Given the description of an element on the screen output the (x, y) to click on. 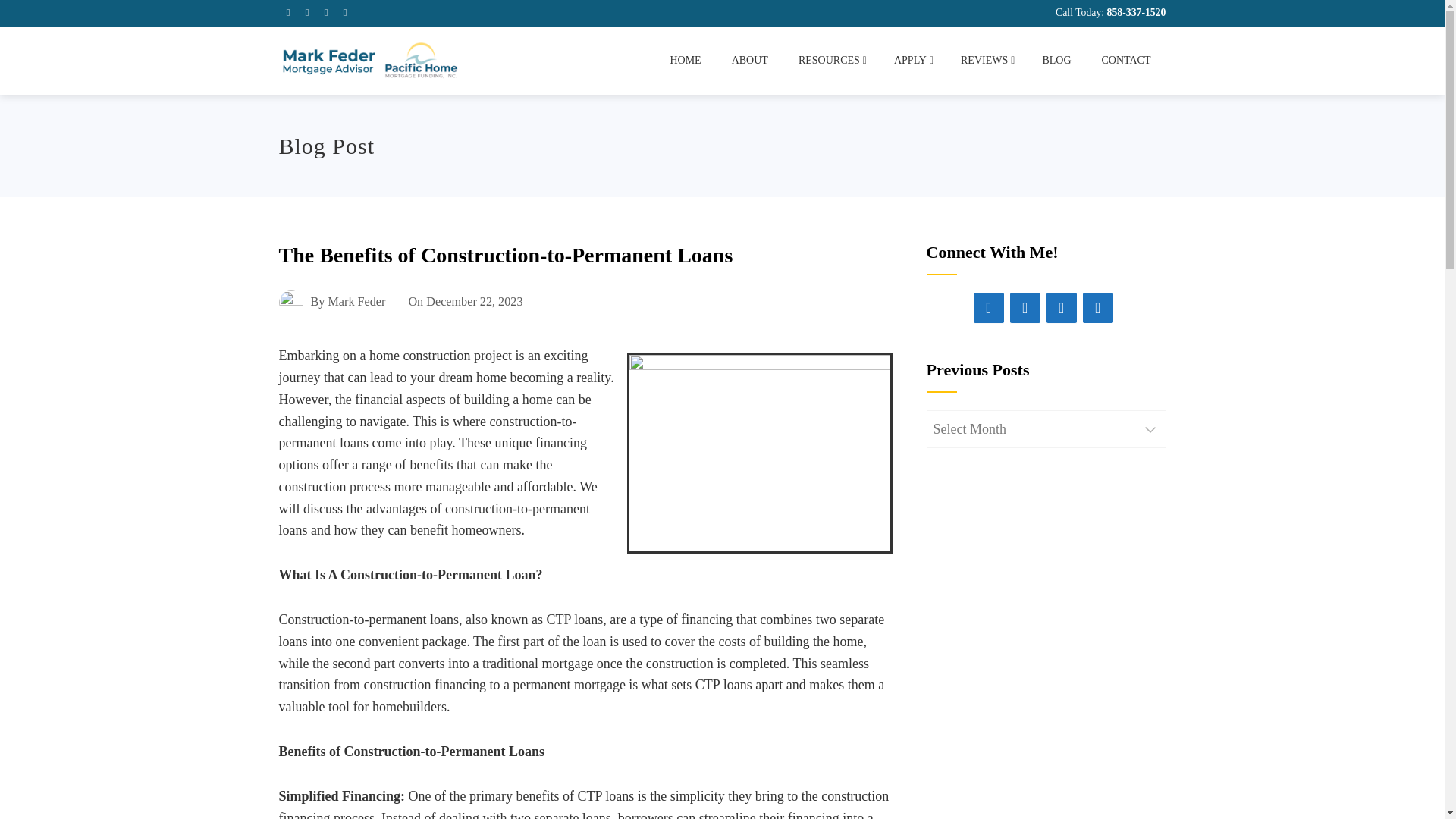
LinkedIn (1025, 307)
CONTACT (1126, 60)
APPLY (911, 60)
Facebook (989, 307)
HOME (684, 60)
REVIEWS (985, 60)
YouTube (1098, 307)
Twitter (1061, 307)
ABOUT (749, 60)
RESOURCES (831, 60)
